Given the description of an element on the screen output the (x, y) to click on. 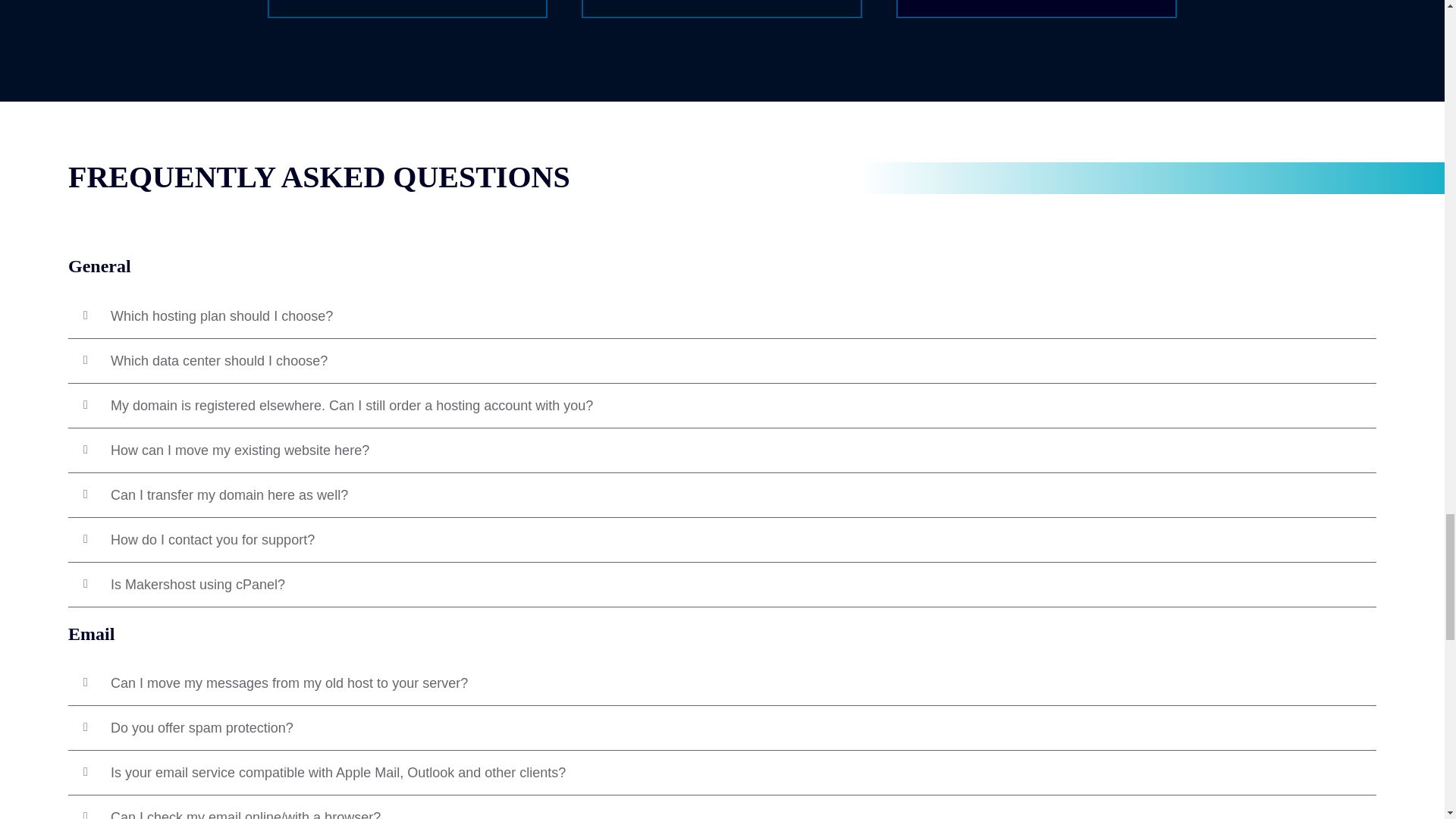
Which data center should I choose? (218, 360)
Which hosting plan should I choose? (221, 315)
